Given the description of an element on the screen output the (x, y) to click on. 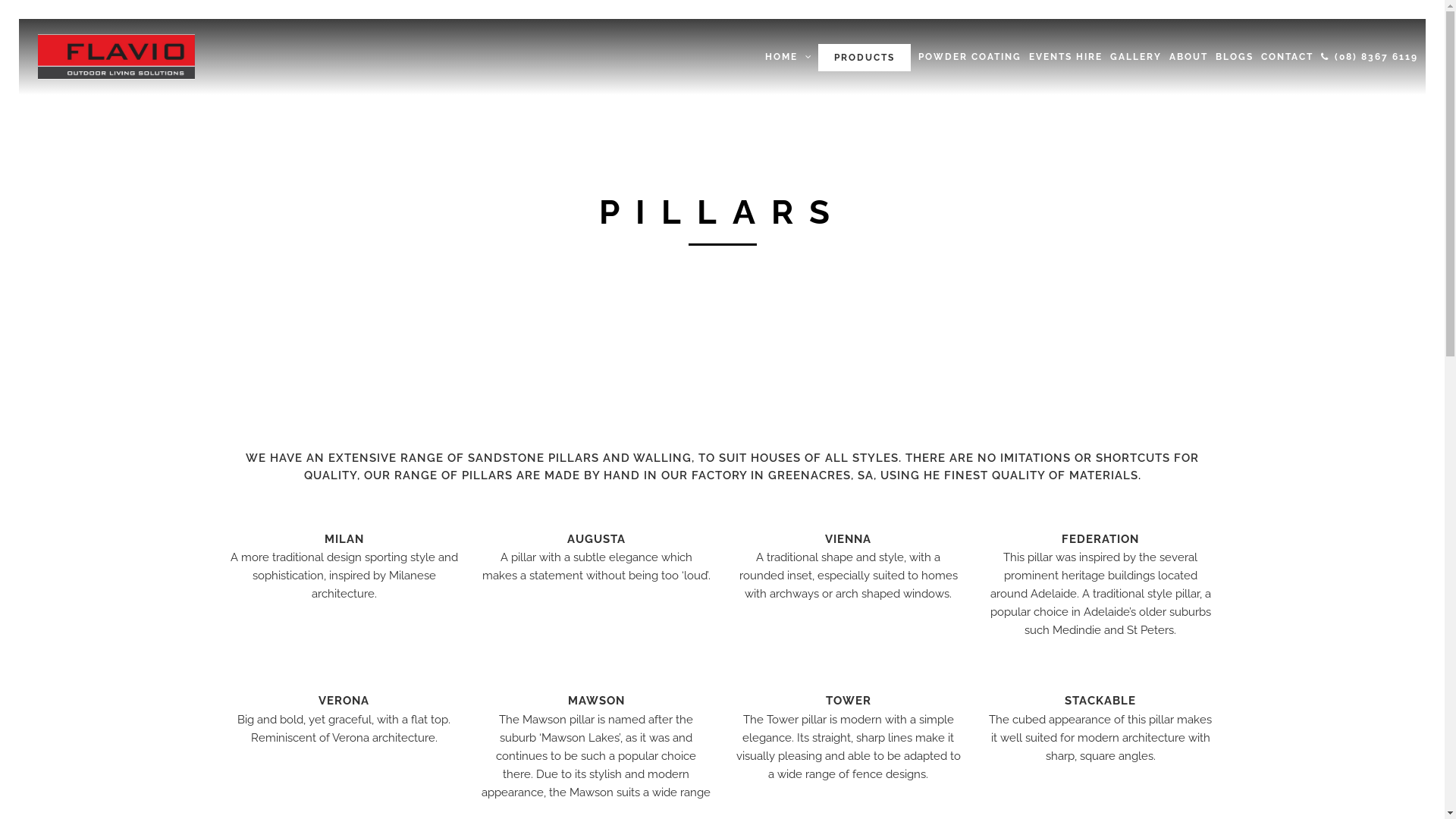
GALLERY Element type: text (1135, 56)
PRODUCTS Element type: text (857, 56)
(08) 8367 6119 Element type: text (1369, 56)
CONTACT Element type: text (1287, 56)
BLOGS Element type: text (1234, 56)
ABOUT Element type: text (1188, 56)
POWDER COATING Element type: text (969, 56)
HOME Element type: text (781, 56)
EVENTS HIRE Element type: text (1065, 56)
